Given the description of an element on the screen output the (x, y) to click on. 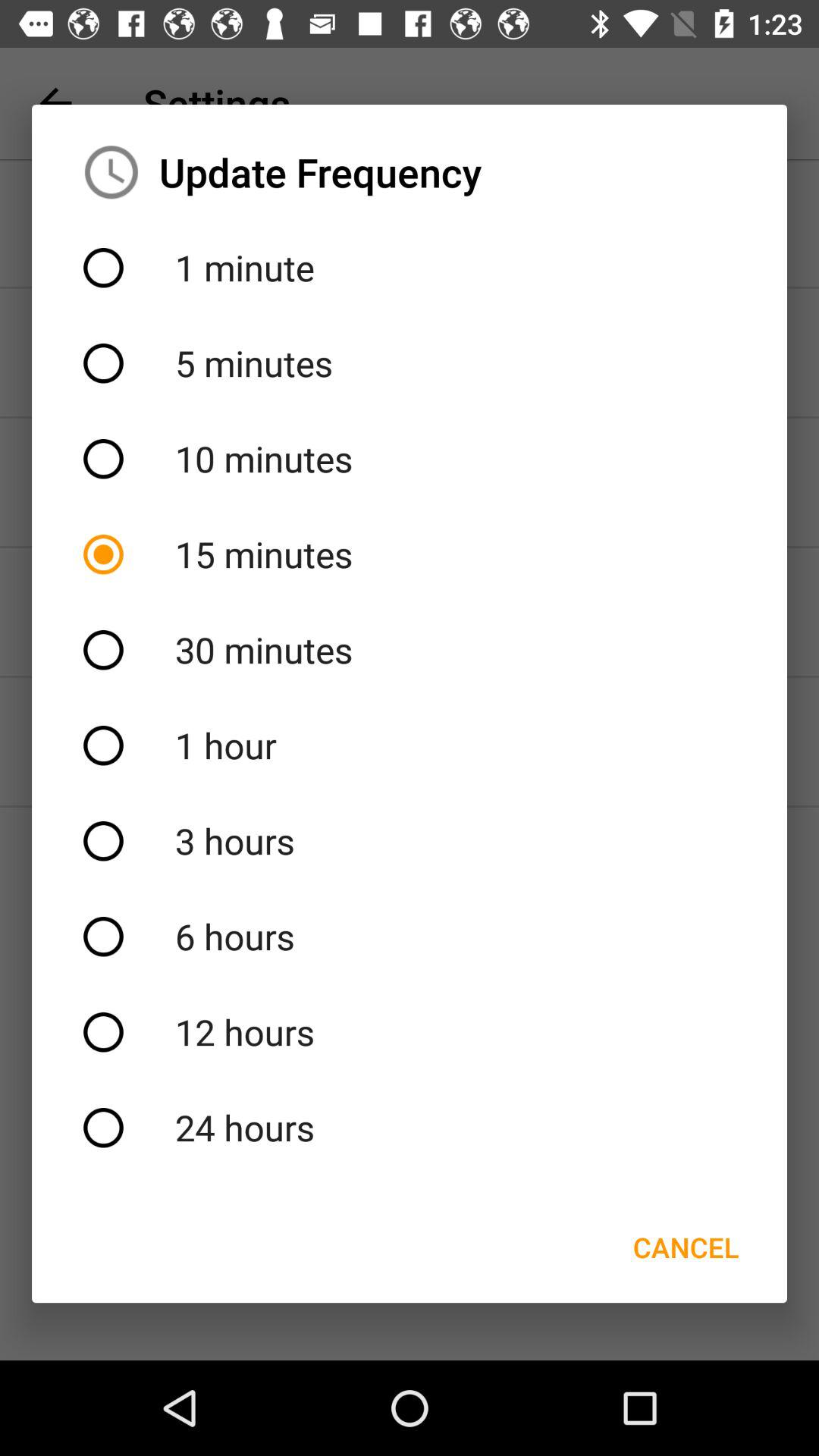
press the 30 minutes item (409, 649)
